Given the description of an element on the screen output the (x, y) to click on. 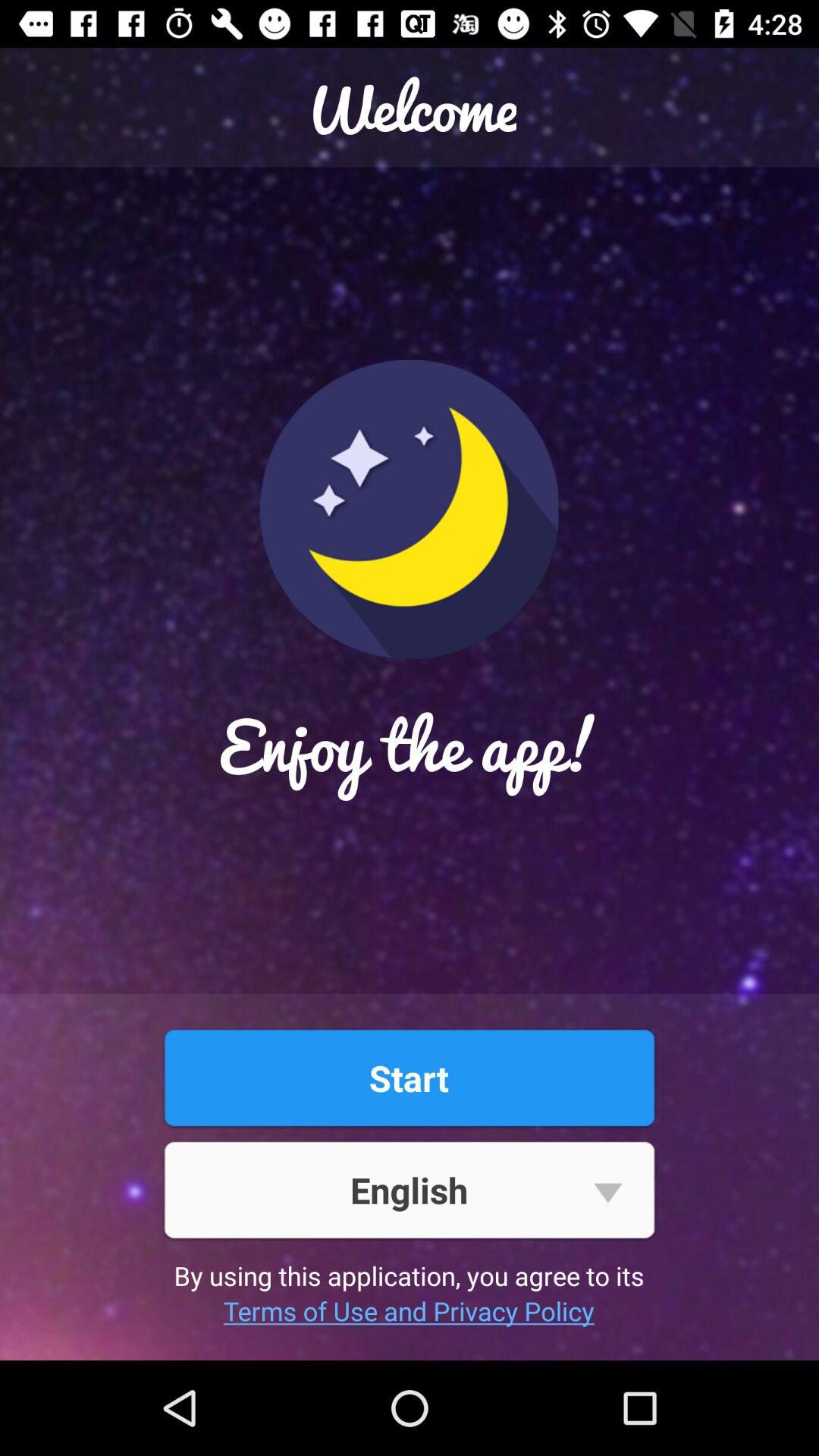
jump until the start item (409, 1078)
